Given the description of an element on the screen output the (x, y) to click on. 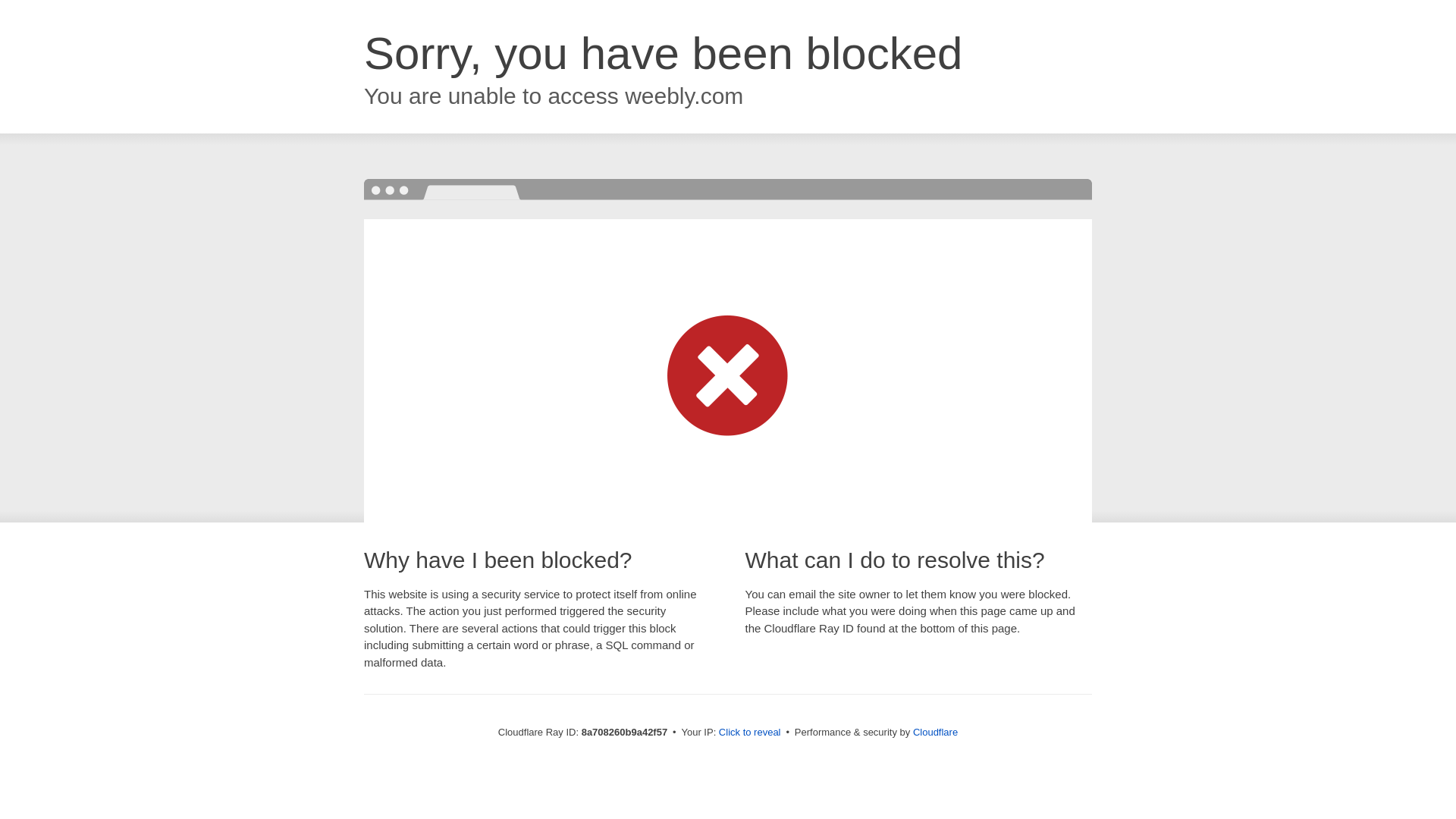
Cloudflare (935, 731)
Click to reveal (749, 732)
